Given the description of an element on the screen output the (x, y) to click on. 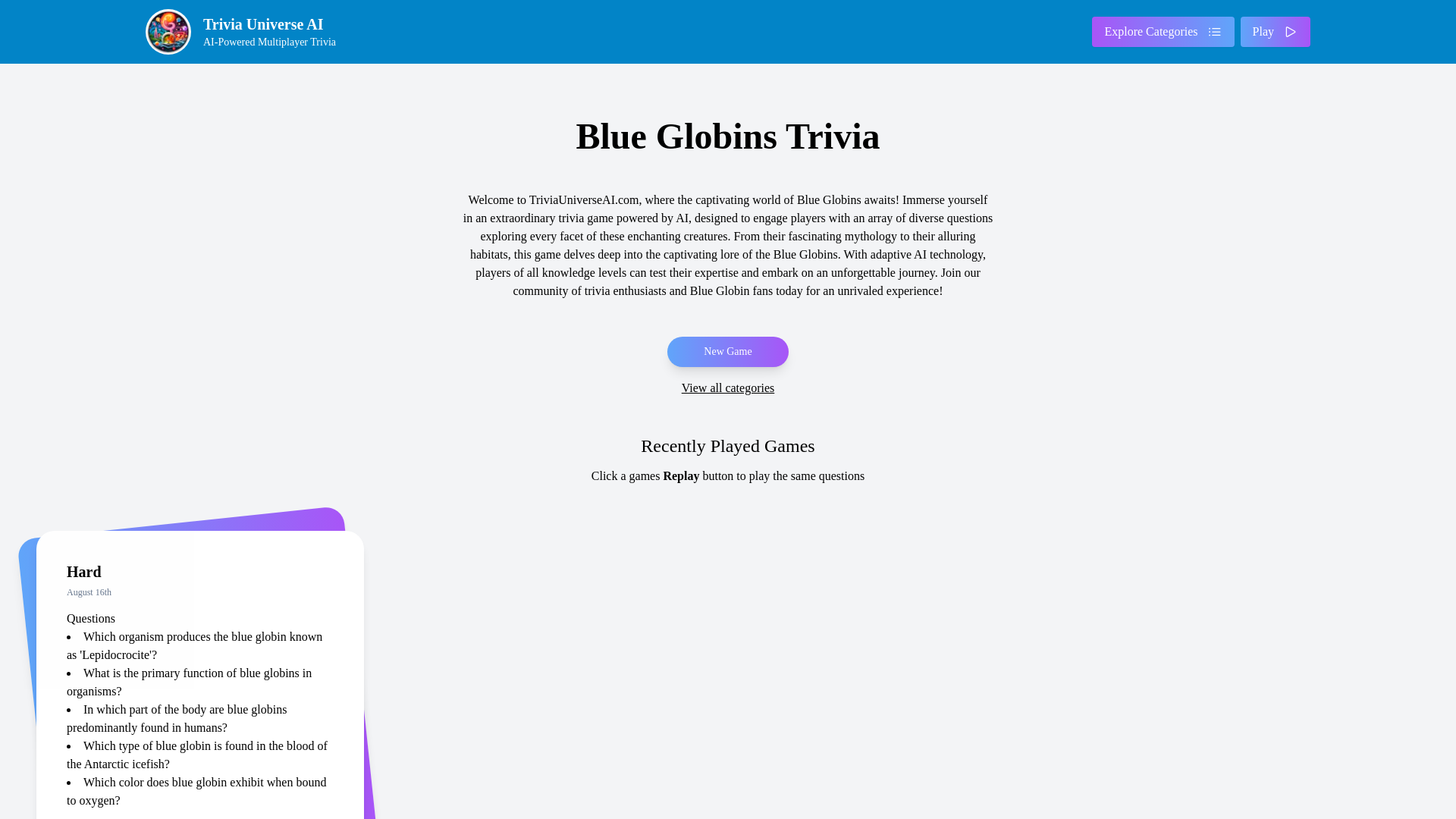
Play (1275, 31)
View all categories (727, 388)
Explore Categories (1162, 31)
New Game (246, 31)
